Given the description of an element on the screen output the (x, y) to click on. 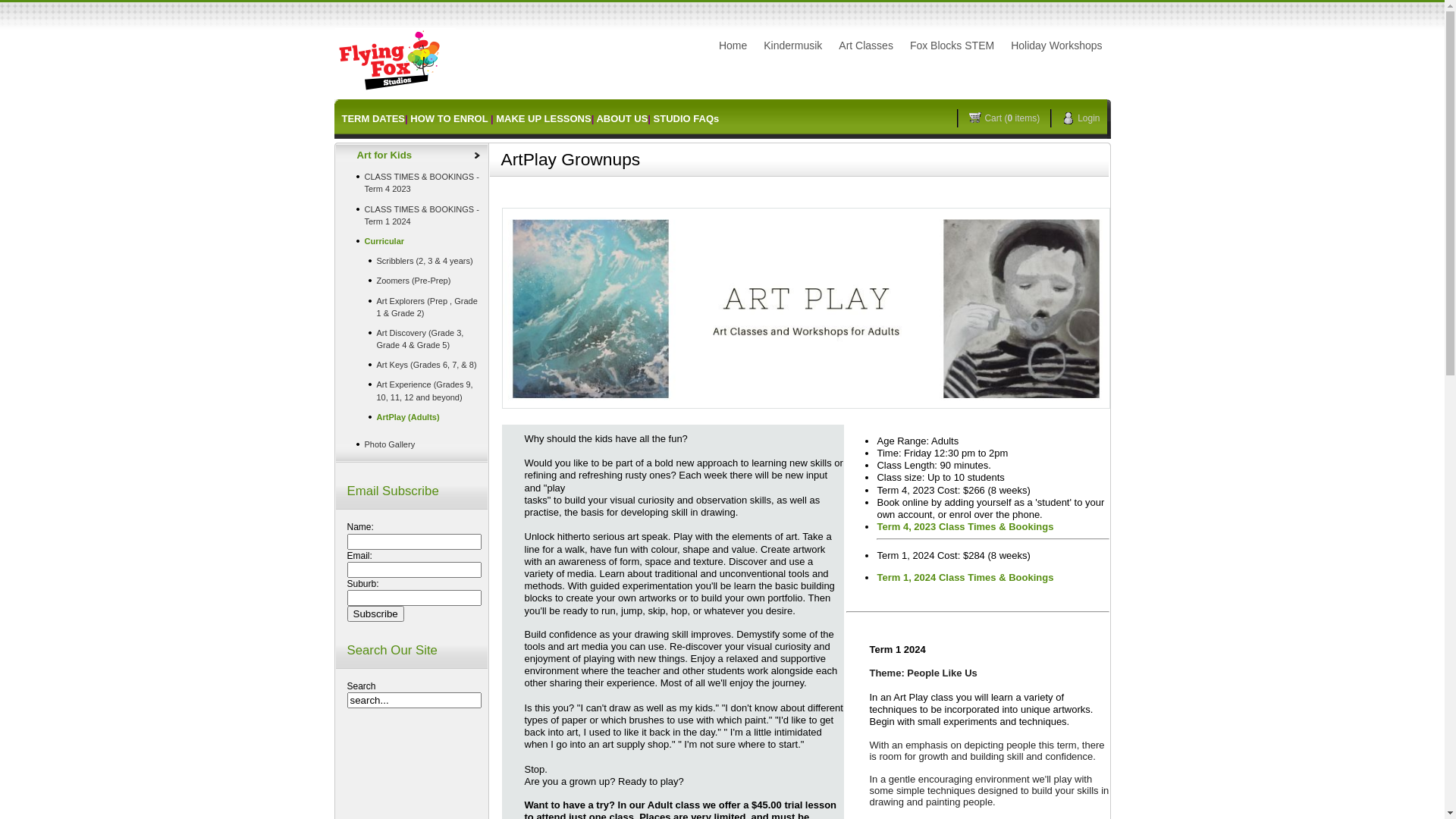
CLASS TIMES & BOOKINGS - Term 1 2024 Element type: text (410, 215)
Scribblers (2, 3 & 4 years) Element type: text (410, 260)
Fox Blocks STEM Element type: text (951, 45)
Art Explorers (Prep , Grade 1 & Grade 2) Element type: text (410, 306)
Log in Element type: text (832, 57)
Holiday Workshops Element type: text (1056, 45)
Term 1, 2024 Class Times & Bookings Element type: text (964, 577)
Art Experience (Grades 9, 10, 11, 12 and beyond) Element type: text (410, 390)
ABOUT US Element type: text (621, 118)
Kindermusik Element type: text (792, 45)
Subscribe Element type: text (375, 613)
Zoomers (Pre-Prep) Element type: text (410, 280)
TERM DATES Element type: text (372, 118)
Art Keys (Grades 6, 7, & 8) Element type: text (410, 364)
Art Classes Element type: text (865, 45)
Art for Kids Element type: text (410, 155)
HOW TO ENROL Element type: text (448, 118)
Art Class Experience for adults Element type: hover (805, 307)
Art Discovery (Grade 3, Grade 4 & Grade 5) Element type: text (410, 338)
Curricular Element type: text (410, 241)
Home Element type: text (732, 45)
Login Element type: text (1086, 118)
Cart (0 items) Element type: text (1009, 118)
Photo Gallery Element type: text (410, 444)
Term 4, 2023 Class Times & Bookings Element type: text (992, 529)
STUDIO FAQs Element type: text (686, 118)
MAKE UP LESSONS Element type: text (542, 118)
ArtPlay (Adults) Element type: text (410, 417)
CLASS TIMES & BOOKINGS - Term 4 2023 Element type: text (410, 182)
